Given the description of an element on the screen output the (x, y) to click on. 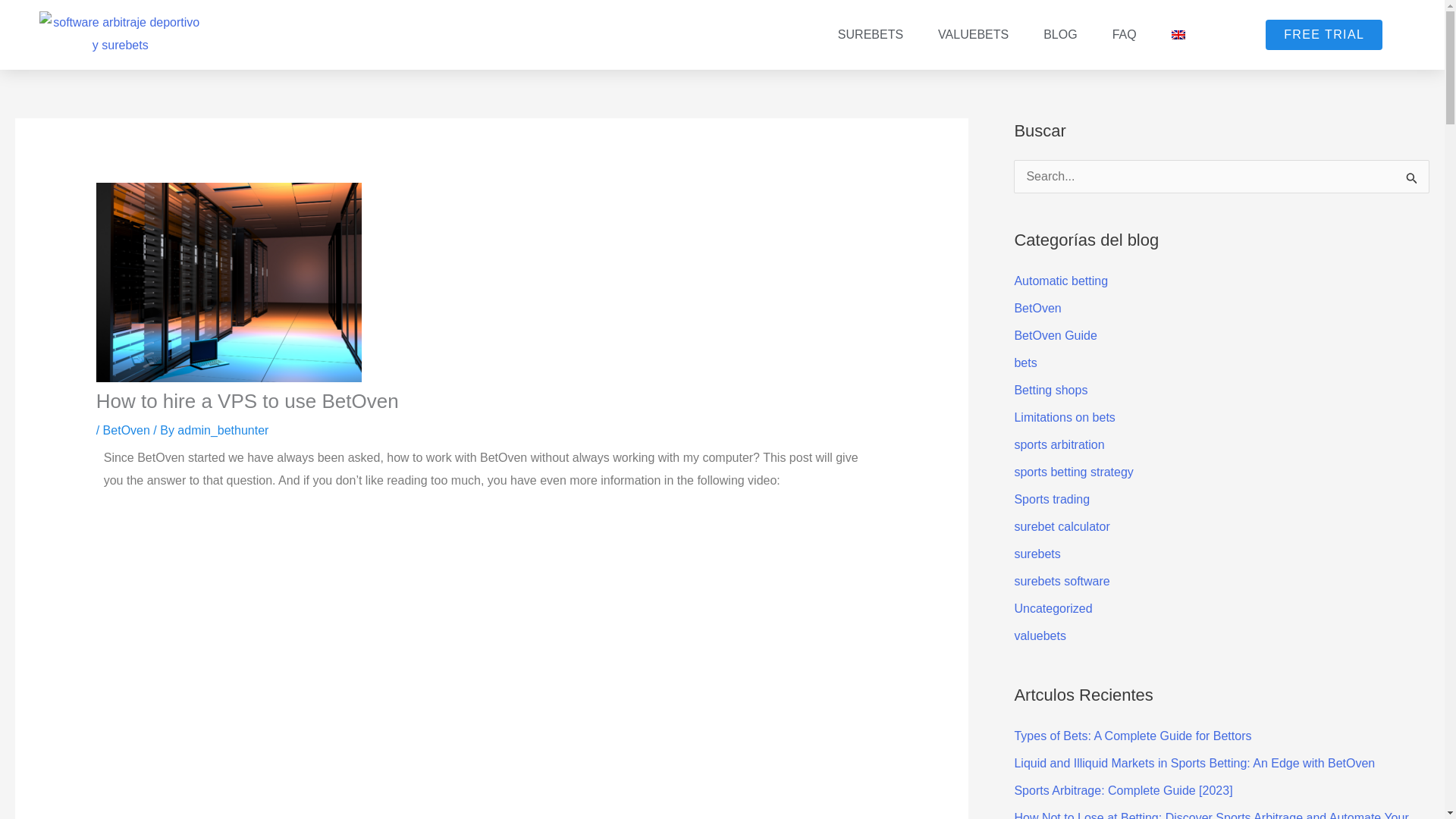
SUREBETS (870, 34)
VALUEBETS (973, 34)
Blog (1059, 34)
BLOG (1059, 34)
Bot de apuestas deportivas (870, 34)
BetOven (126, 430)
Valuebets (973, 34)
How to hire a VPS to use BetOven 2 (228, 282)
FREE TRIAL (1323, 34)
